Given the description of an element on the screen output the (x, y) to click on. 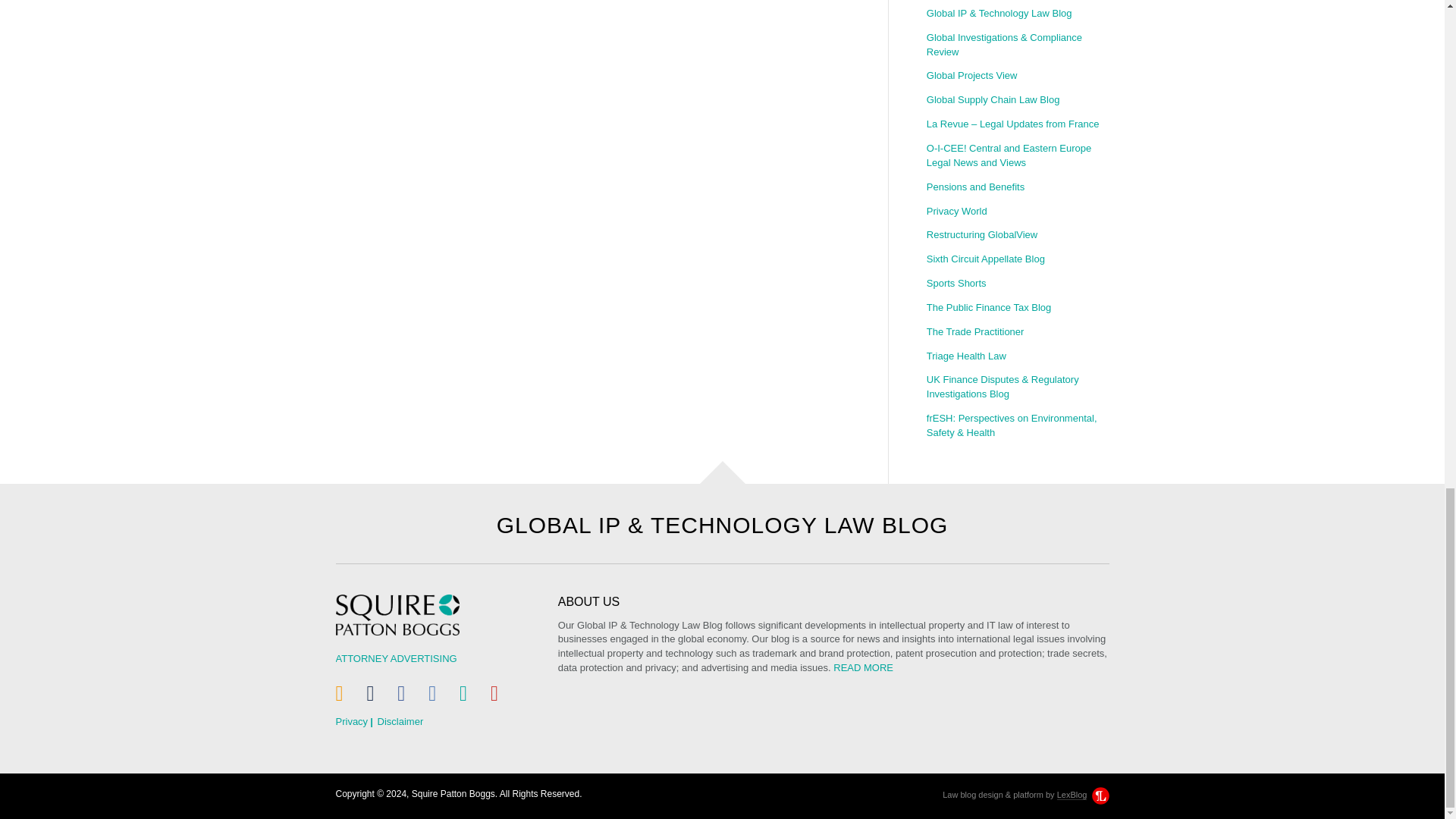
Global Projects View (1017, 75)
O-I-CEE! Central and Eastern Europe Legal News and Views (1017, 156)
Global Supply Chain Law Blog (1017, 100)
